Given the description of an element on the screen output the (x, y) to click on. 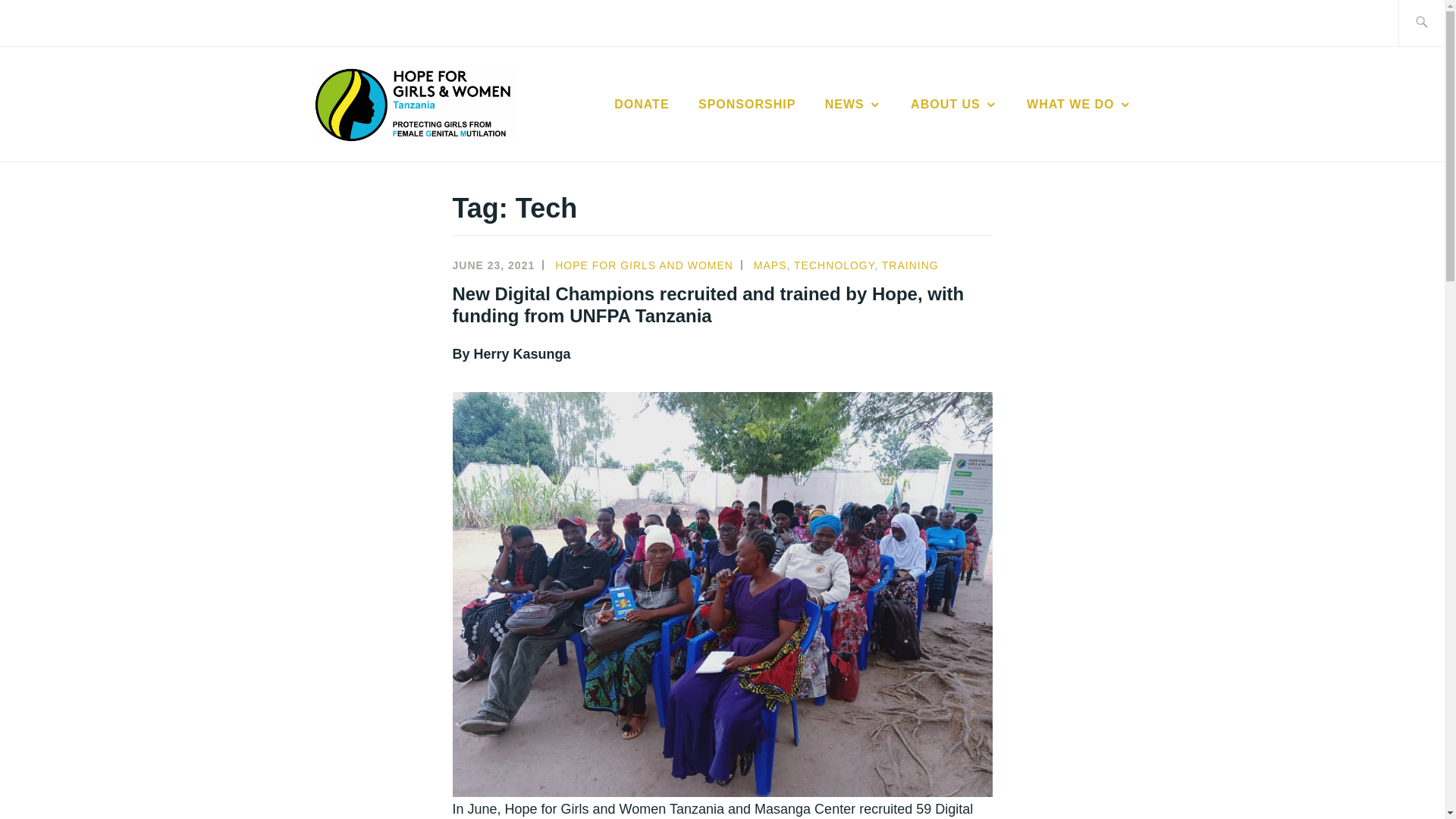
HOPE FOR GIRLS AND WOMEN (807, 127)
ABOUT US (954, 104)
Visit this page to donate (641, 104)
WHAT WE DO (1078, 104)
SPONSORSHIP (746, 104)
Search (47, 22)
JUNE 23, 2021 (492, 265)
TRAINING (910, 265)
NEWS (853, 104)
DONATE (641, 104)
